Given the description of an element on the screen output the (x, y) to click on. 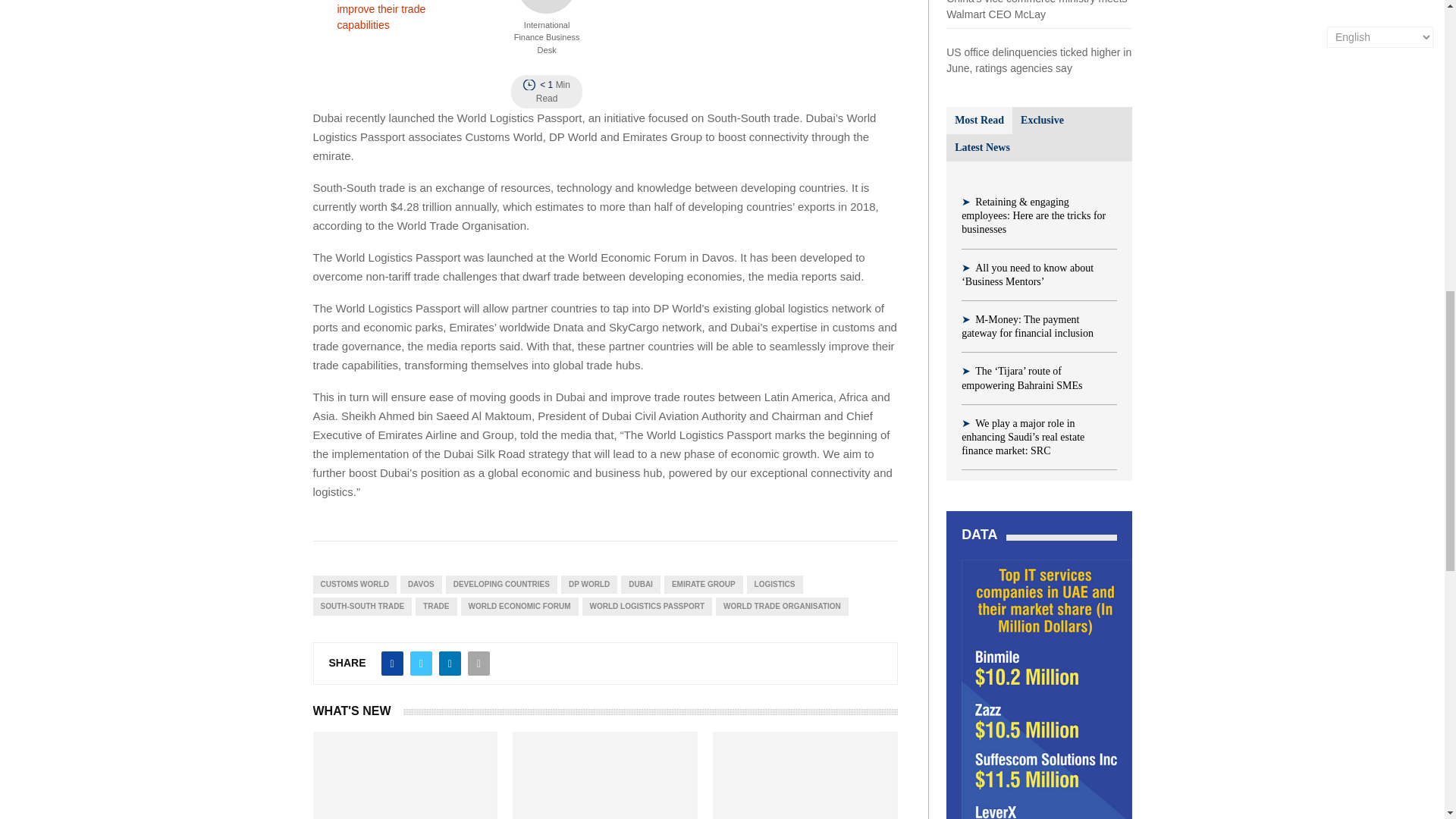
 M-Money: The payment gateway for financial inclusion  (1026, 326)
